Given the description of an element on the screen output the (x, y) to click on. 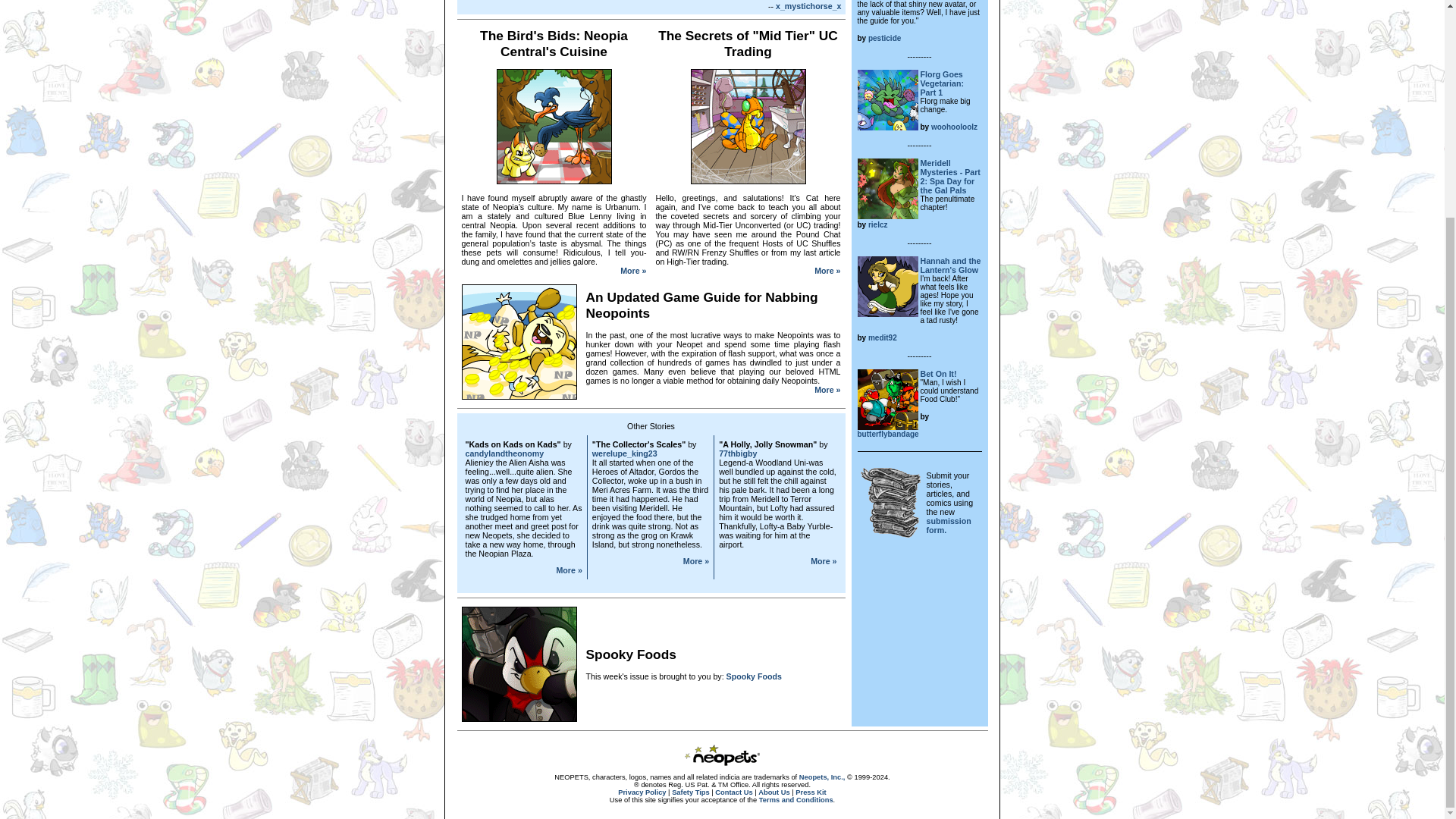
candylandtheonomy (504, 452)
Florg Goes Vegetarian: Part 1 (941, 83)
Meridell Mysteries - Part 2: Spa Day for the Gal Pals (949, 176)
Spooky Foods (753, 675)
medit92 (881, 337)
rielcz (877, 224)
pesticide (884, 37)
woohooloolz (953, 126)
77thbigby (738, 452)
Hannah and the Lantern's Glow (950, 265)
Bet On It! (938, 373)
